Given the description of an element on the screen output the (x, y) to click on. 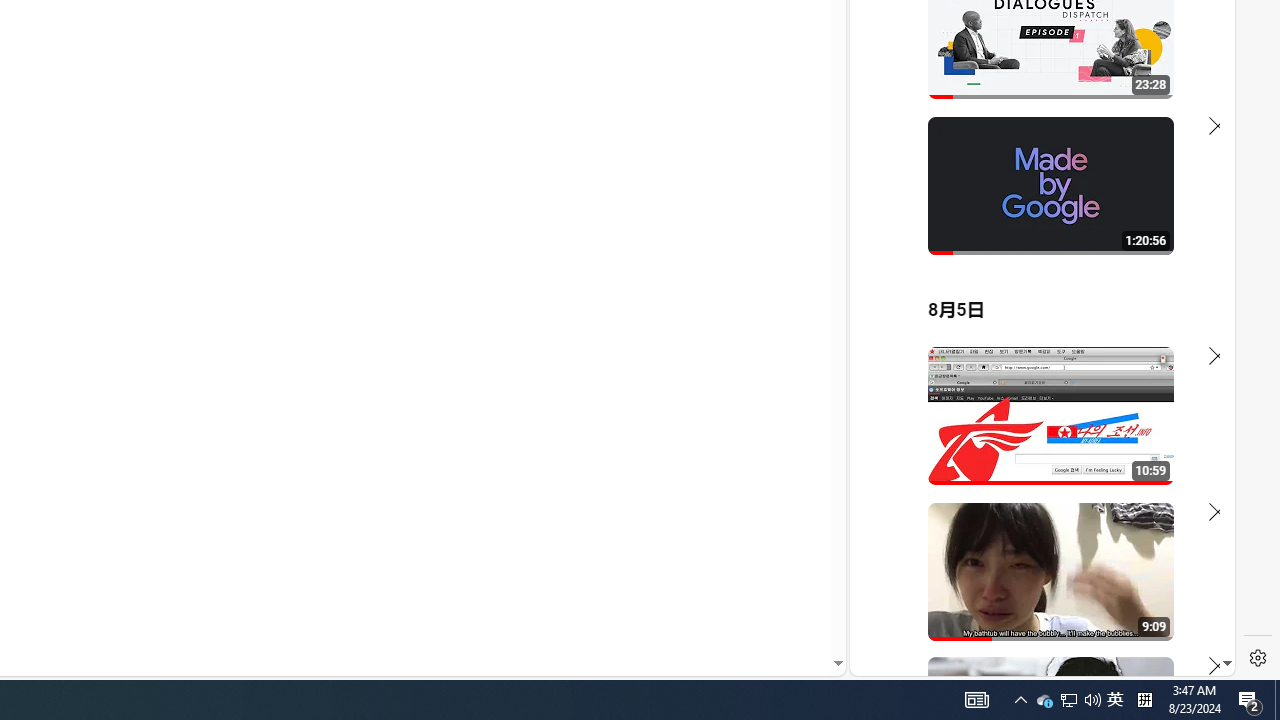
US[ju] (917, 660)
AutomationID: 4105 (976, 699)
Tray Input Indicator - Chinese (Simplified, China) (1144, 699)
YouTube (1034, 432)
Show desktop (1277, 699)
Click to scroll right (1044, 699)
